Given the description of an element on the screen output the (x, y) to click on. 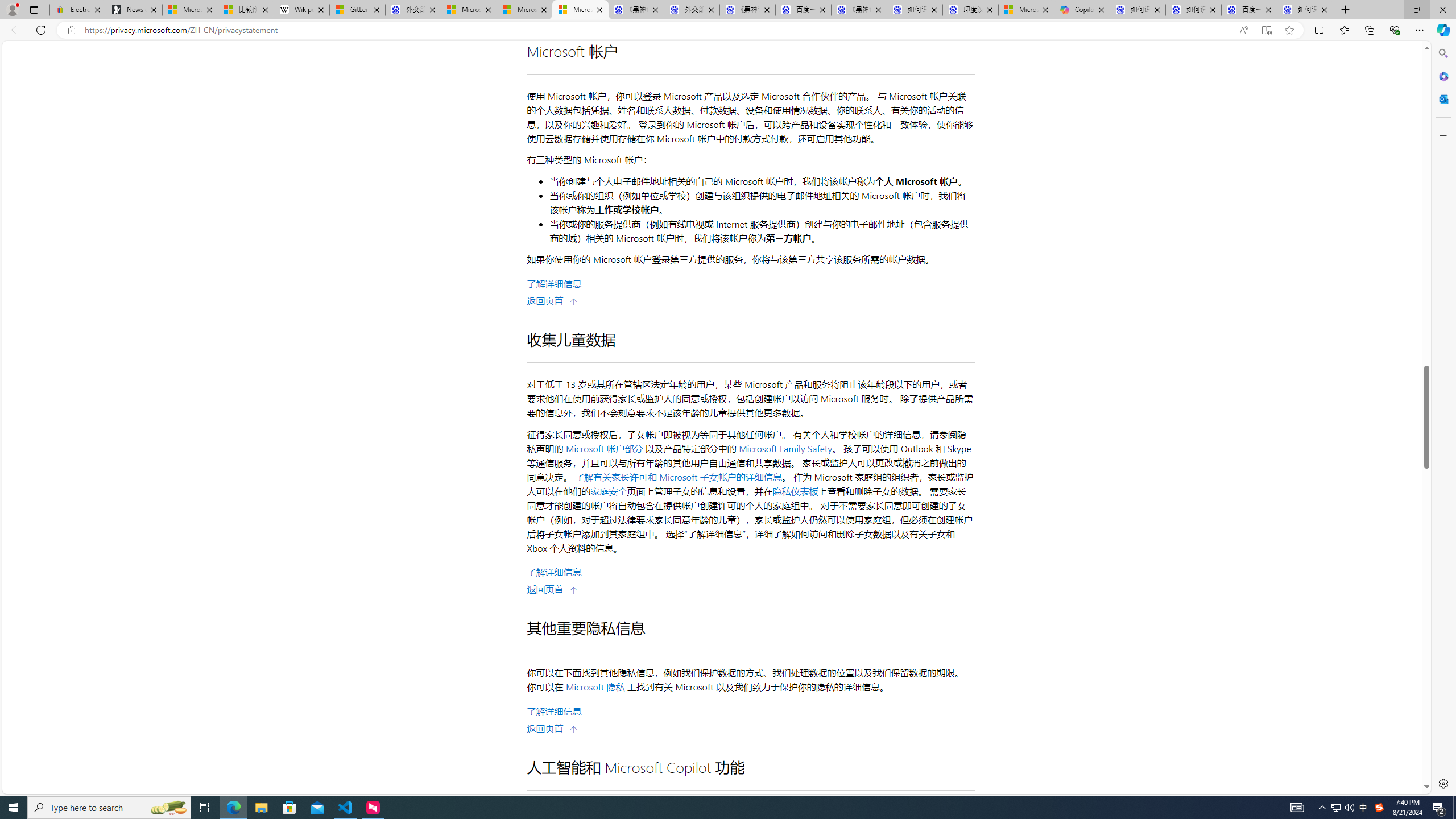
Microsoft Family Safety (784, 448)
